Given the description of an element on the screen output the (x, y) to click on. 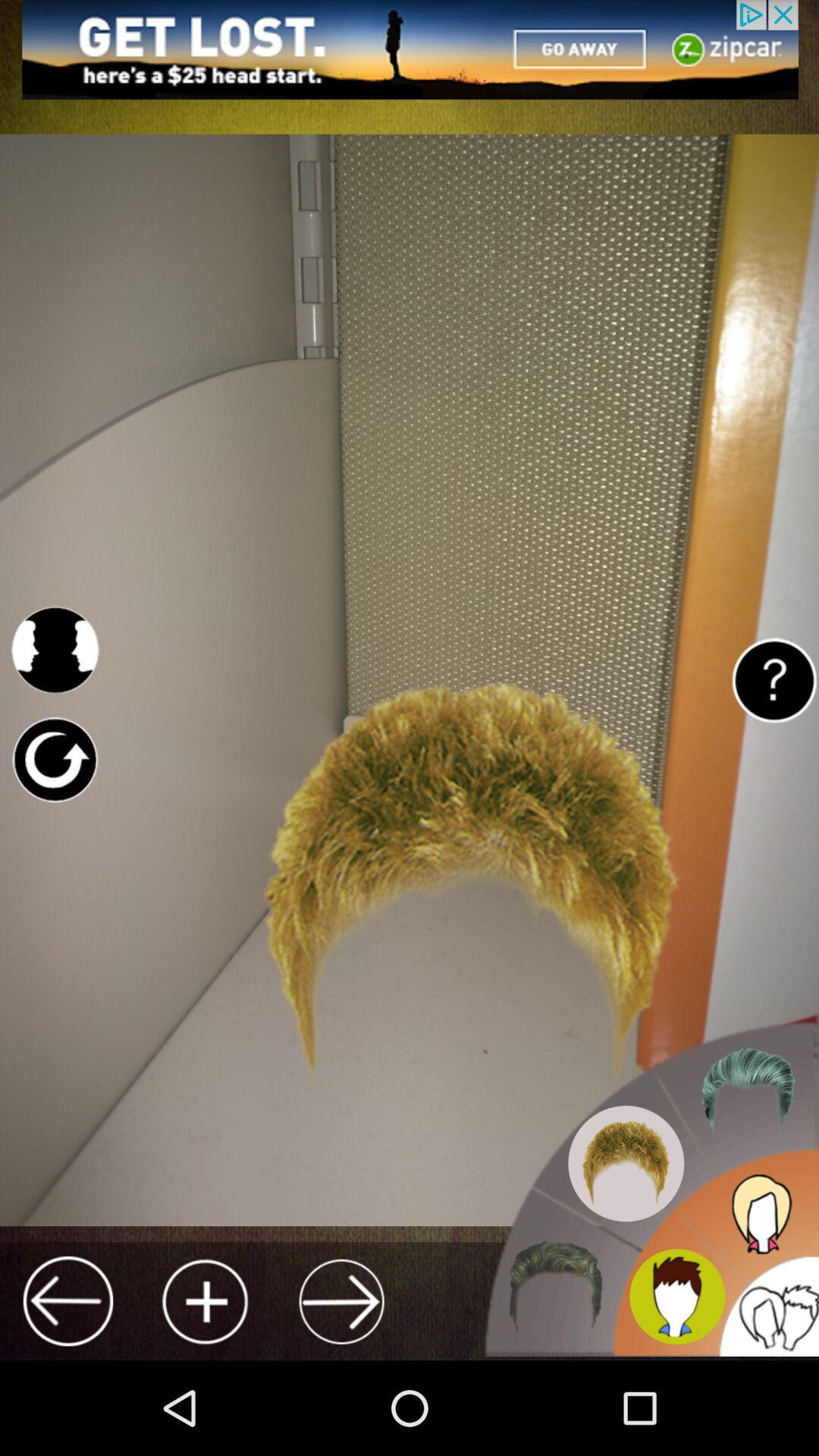
undo button (55, 759)
